Given the description of an element on the screen output the (x, y) to click on. 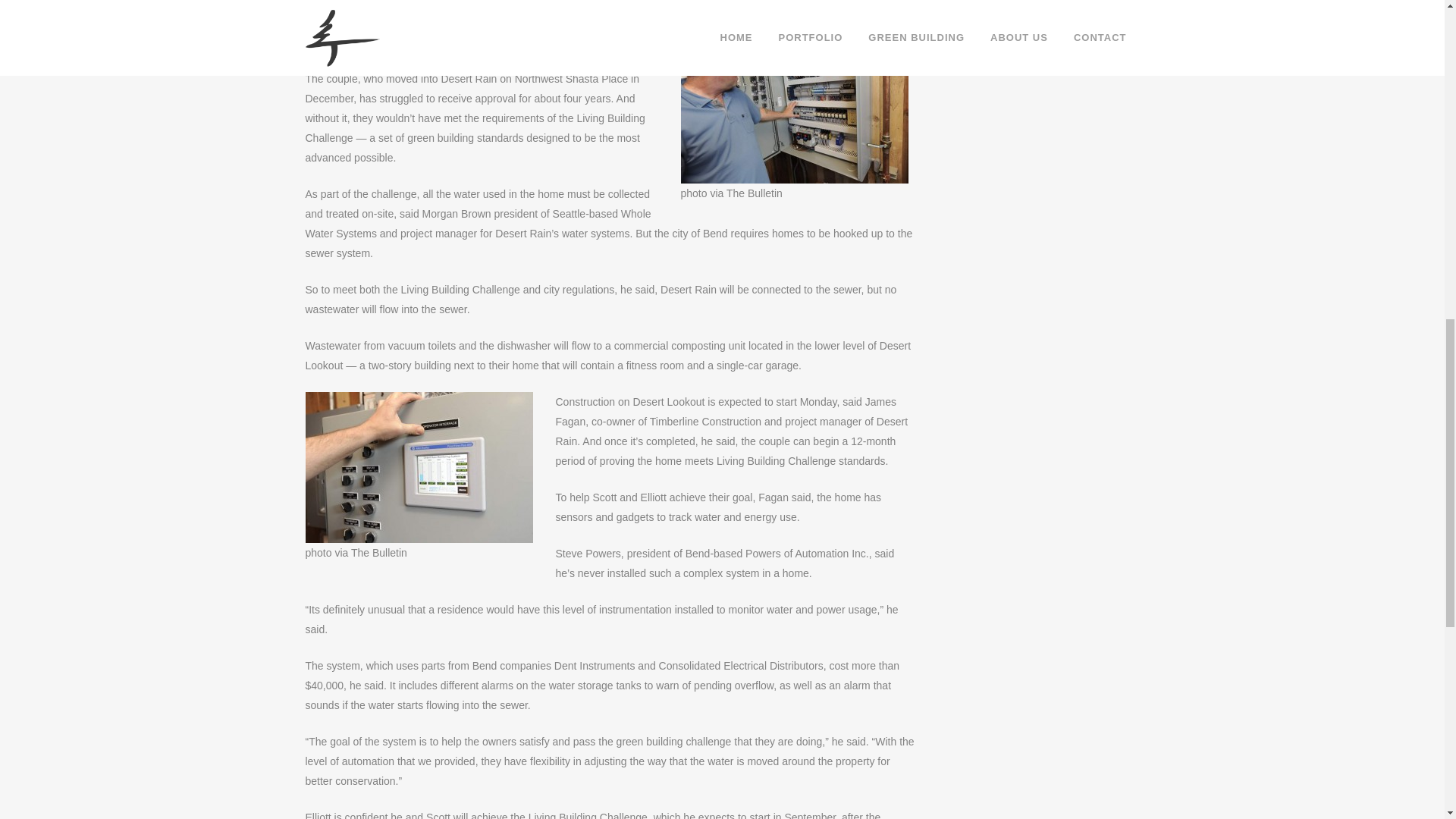
DR Bulletin pic 02 (794, 107)
DR Bulletin pic 03 (418, 467)
